Given the description of an element on the screen output the (x, y) to click on. 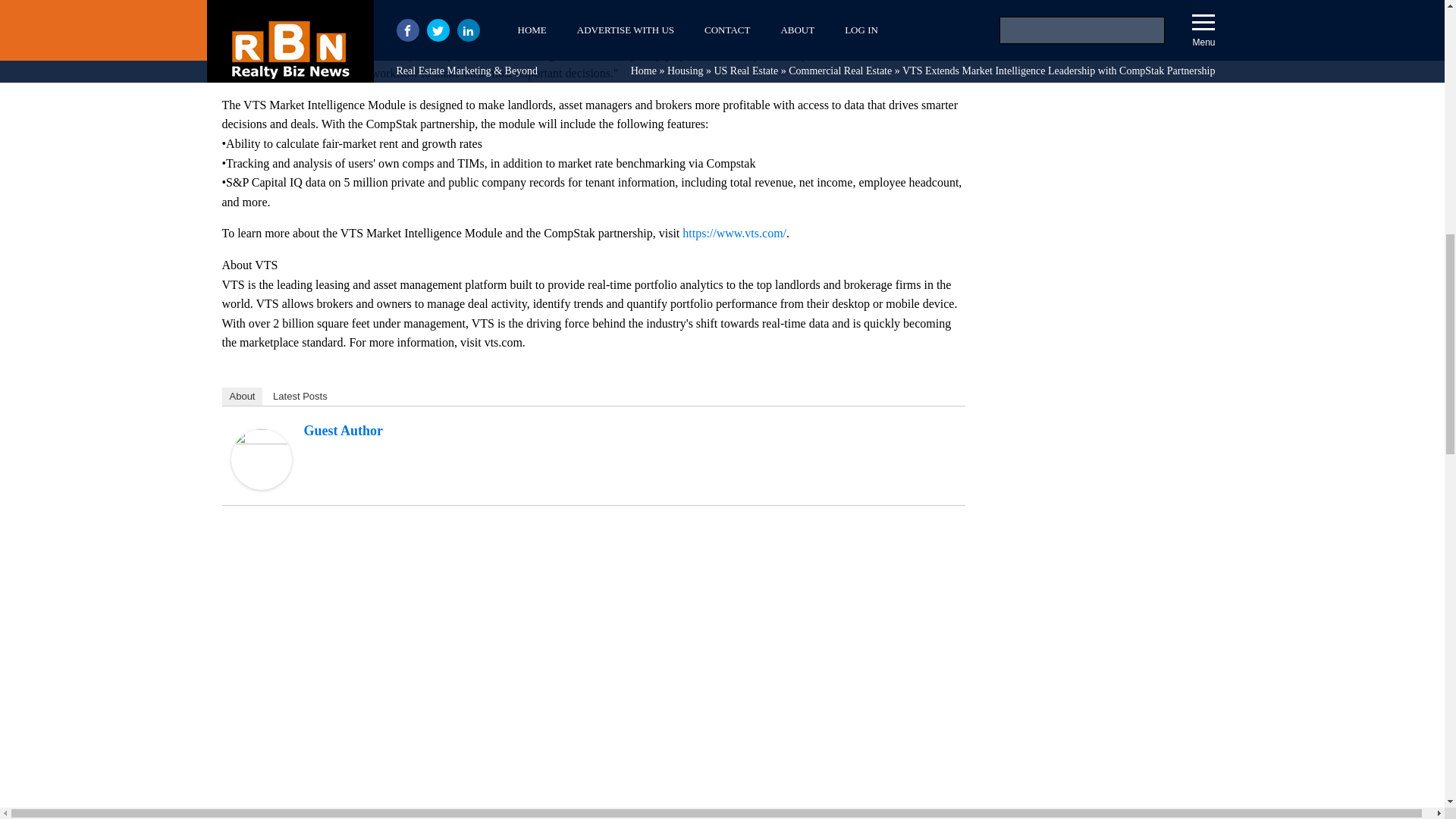
Guest Author (260, 485)
Advertisement (1108, 45)
Advertisement (1108, 698)
